Given the description of an element on the screen output the (x, y) to click on. 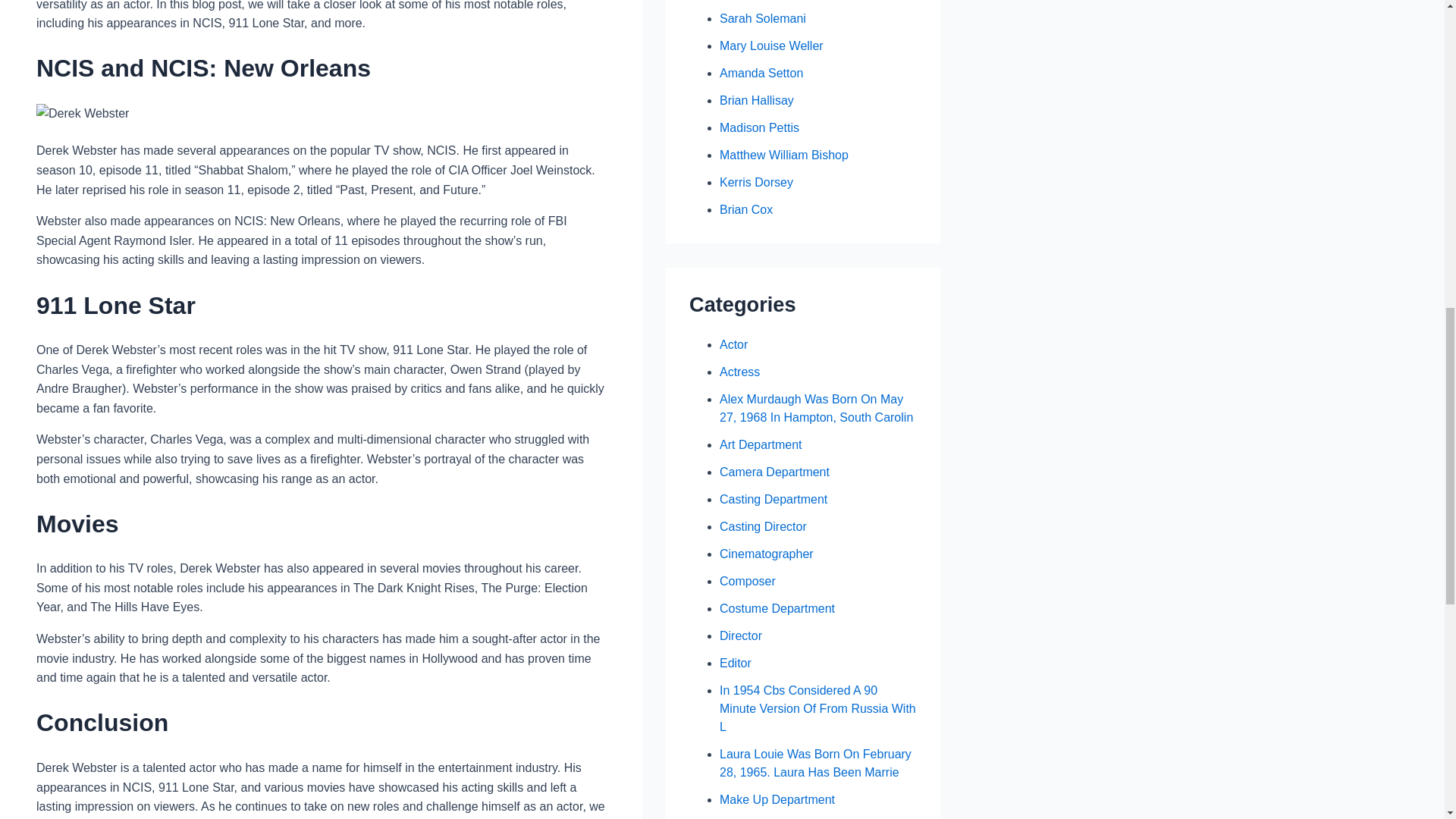
Sarah Solemani (762, 18)
